Given the description of an element on the screen output the (x, y) to click on. 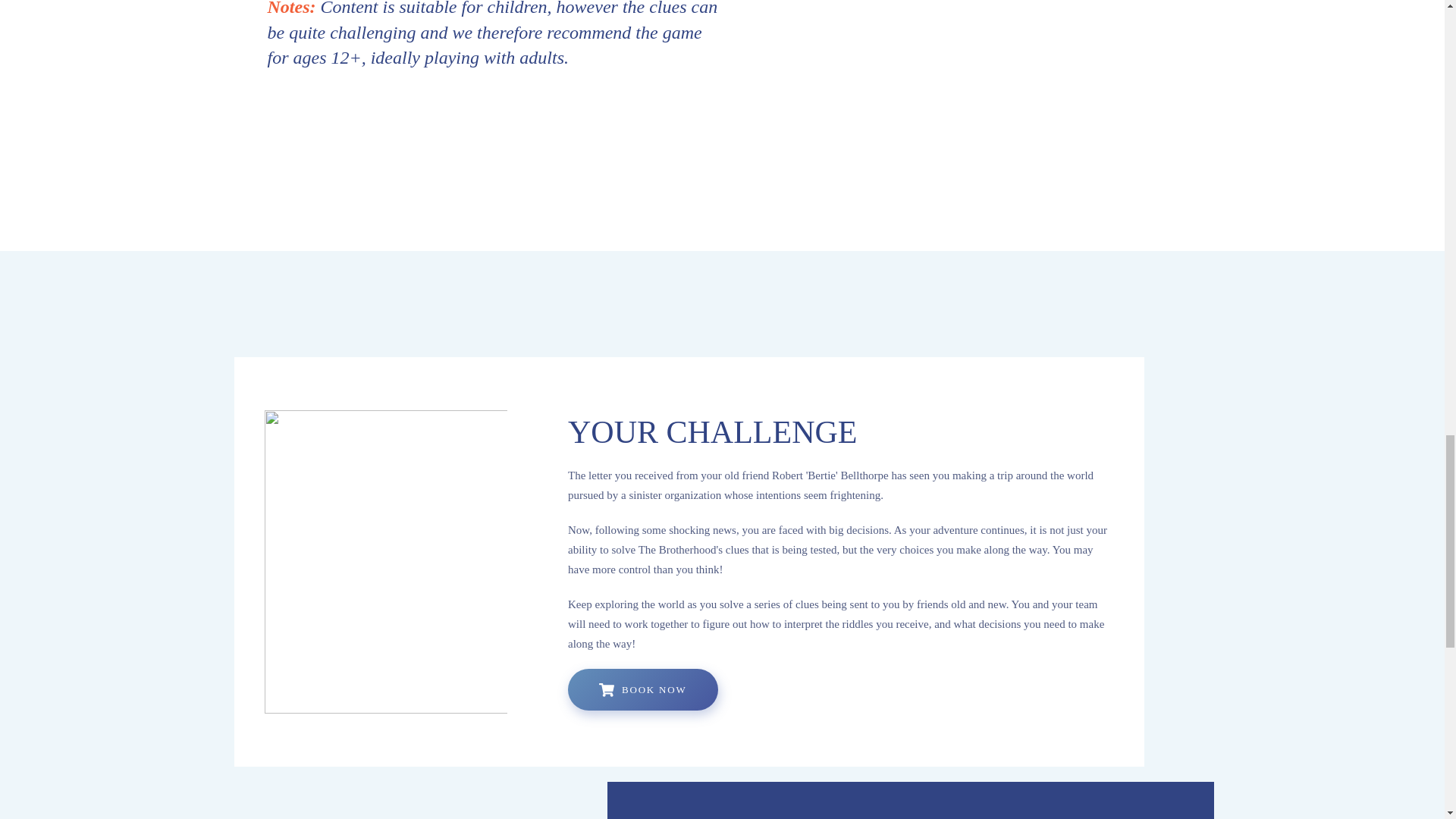
BOOK NOW (642, 690)
